Given the description of an element on the screen output the (x, y) to click on. 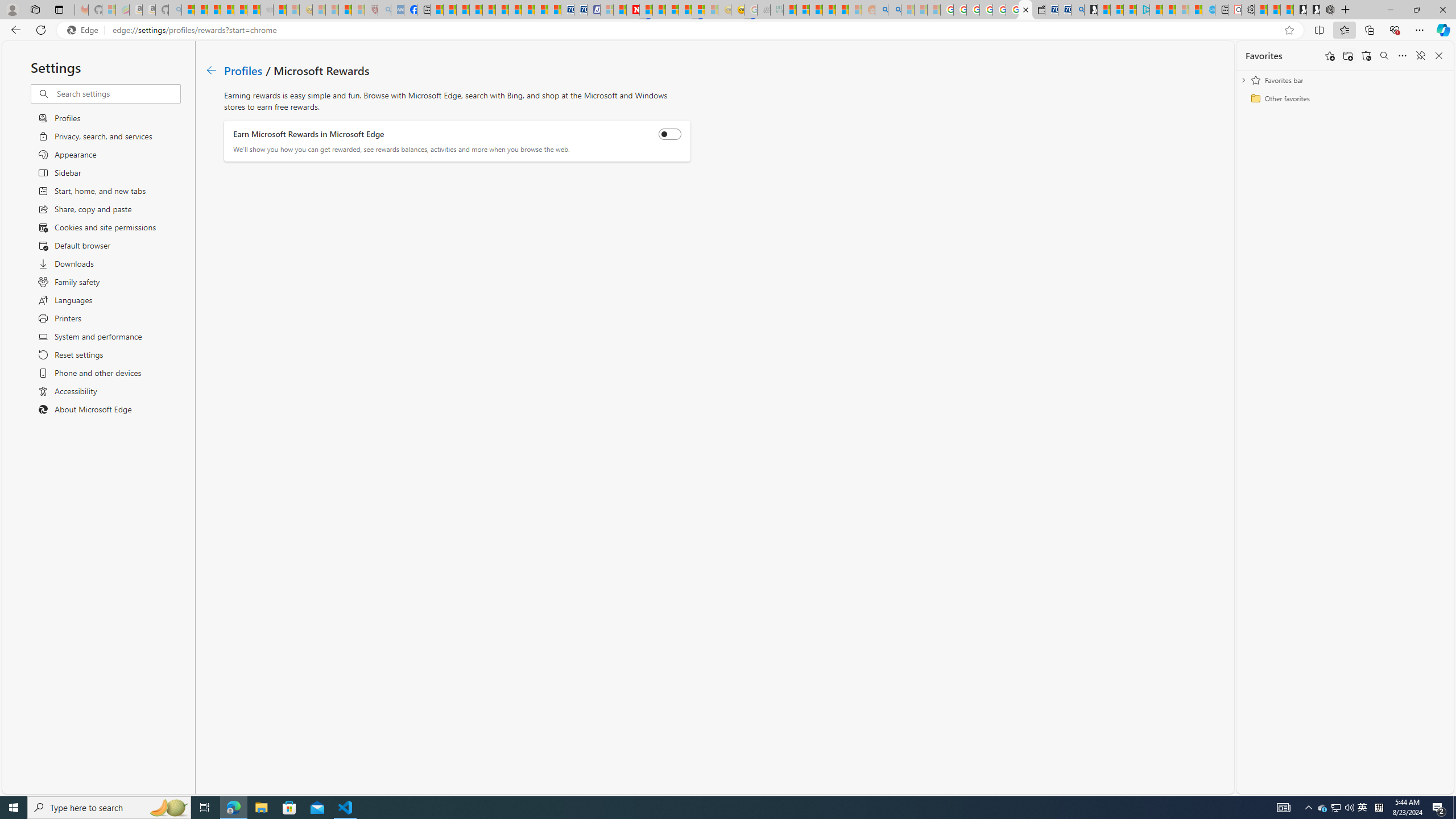
Earn Microsoft Rewards in Microsoft Edge (669, 134)
Cheap Hotels - Save70.com (580, 9)
Search settings (117, 93)
